Given the description of an element on the screen output the (x, y) to click on. 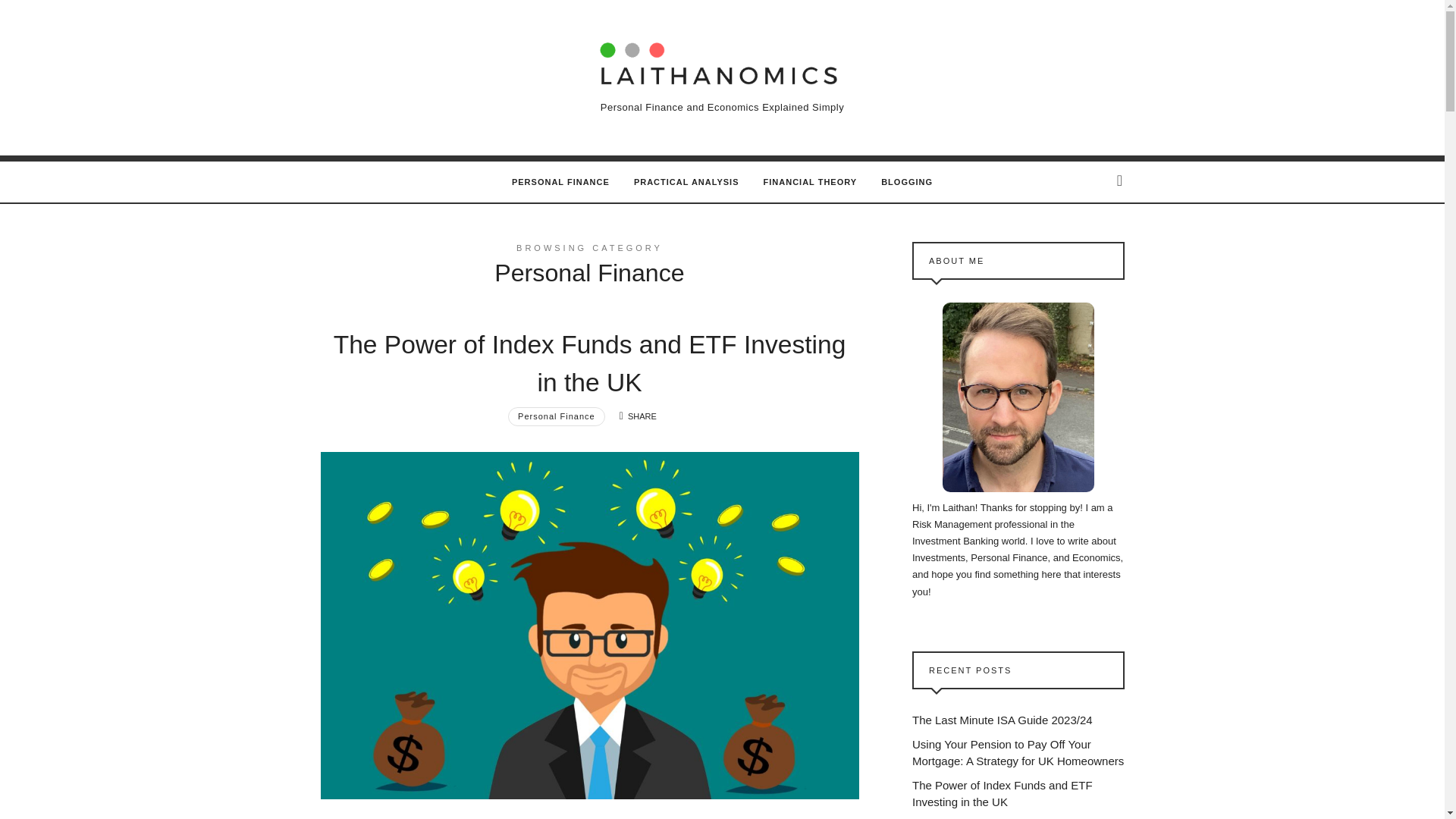
FINANCIAL THEORY (809, 181)
BLOGGING (906, 181)
PERSONAL FINANCE (561, 181)
Laithanomics (722, 61)
Personal Finance (556, 416)
PRACTICAL ANALYSIS (686, 181)
The Power of Index Funds and ETF Investing in the UK (589, 363)
Search (39, 18)
